Given the description of an element on the screen output the (x, y) to click on. 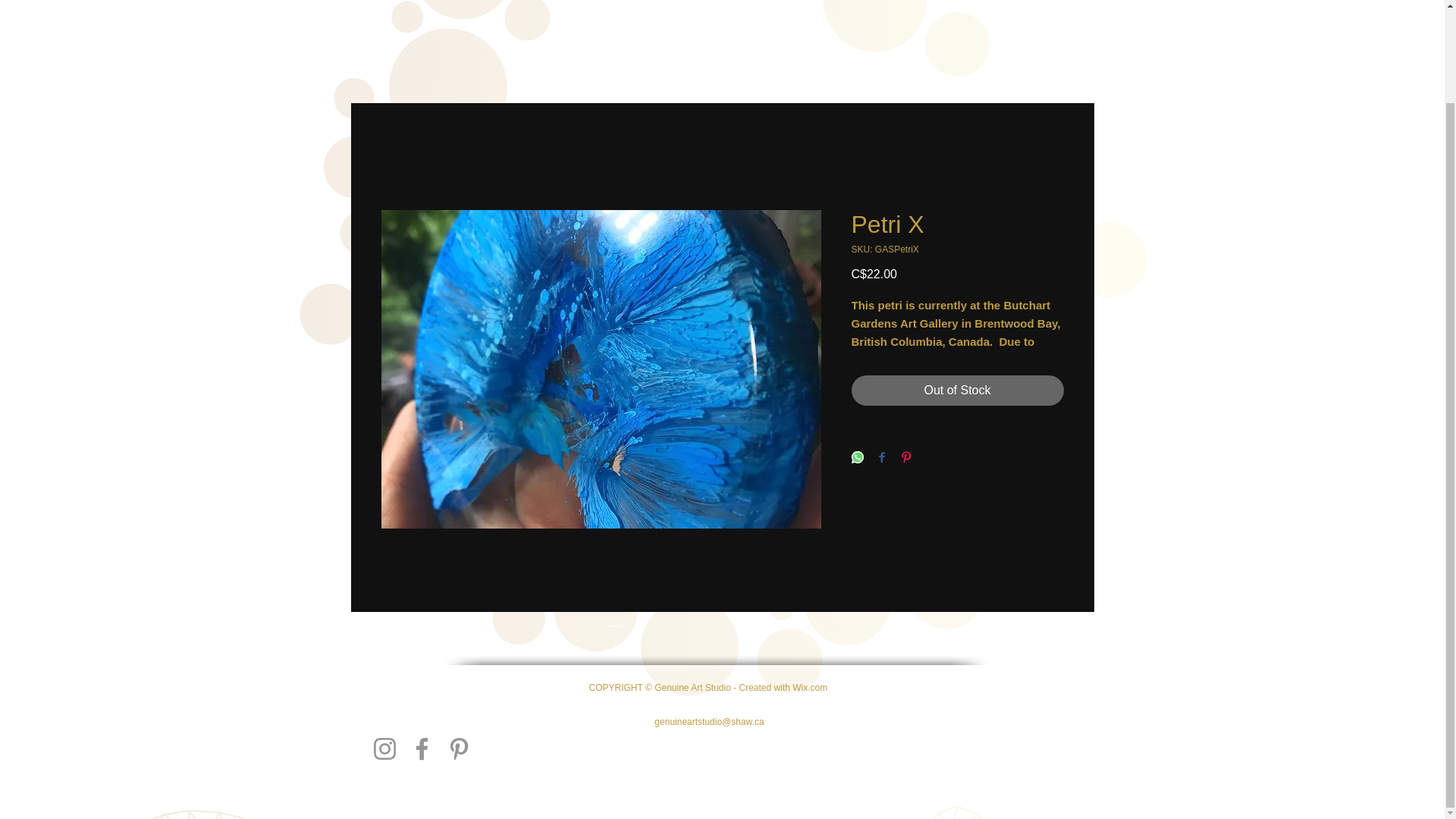
Out of Stock (956, 390)
Wix.com (809, 687)
